Given the description of an element on the screen output the (x, y) to click on. 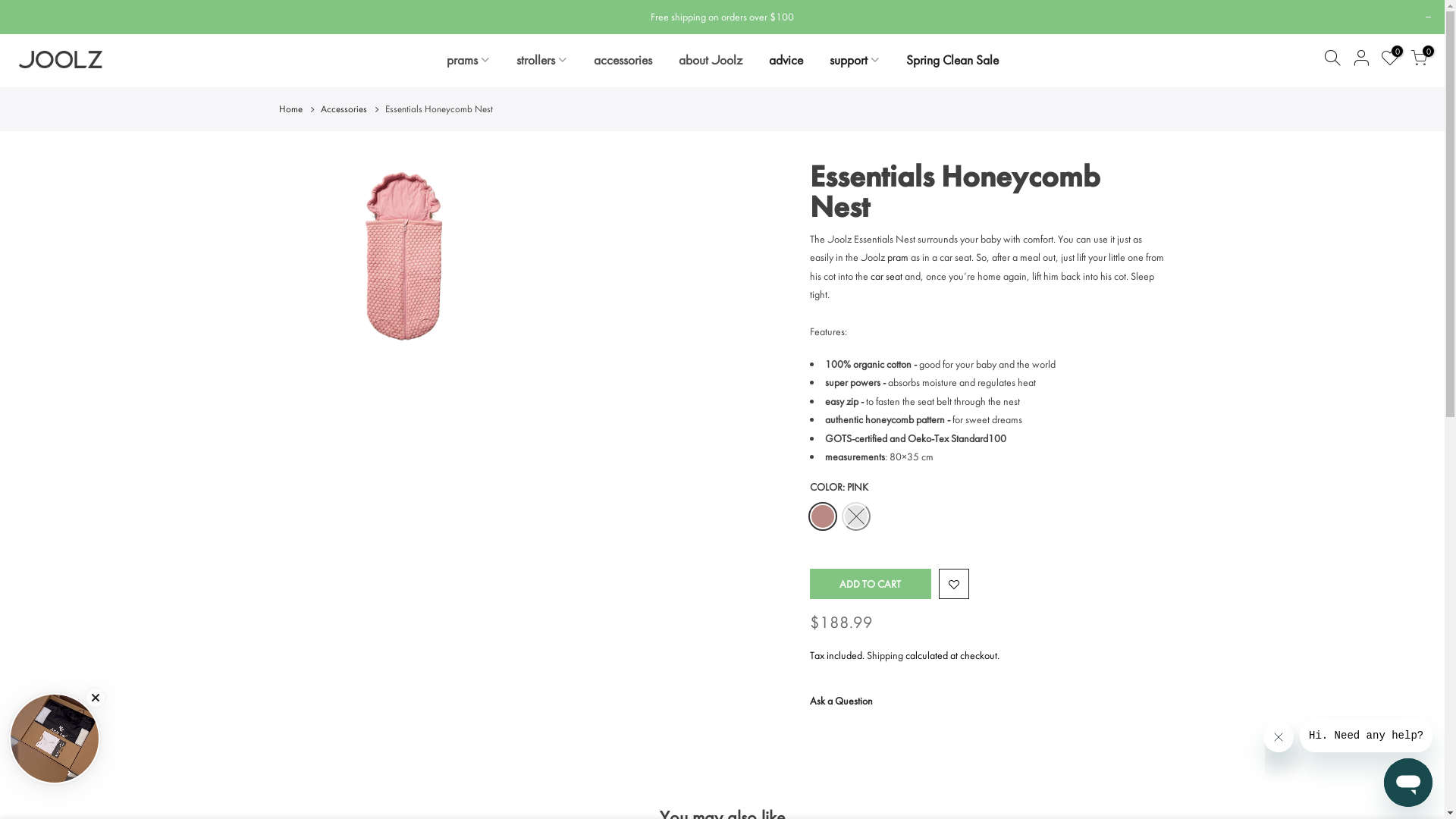
Shipping Element type: text (884, 655)
Ask a Question Element type: text (840, 700)
Button to launch messaging window Element type: hover (1407, 782)
Home Element type: text (290, 108)
Accessories Element type: text (343, 108)
accessories Element type: text (622, 59)
ADD TO CART Element type: text (870, 583)
Close message Element type: hover (1278, 736)
Spring Clean Sale Element type: text (951, 59)
Message from company Element type: hover (1365, 735)
about Joolz Element type: text (710, 59)
pram Element type: text (897, 256)
strollers Element type: text (541, 59)
support Element type: text (853, 59)
advice Element type: text (785, 59)
car seat Element type: text (886, 275)
0 Element type: text (1418, 60)
0 Element type: text (1389, 60)
prams Element type: text (467, 59)
